Given the description of an element on the screen output the (x, y) to click on. 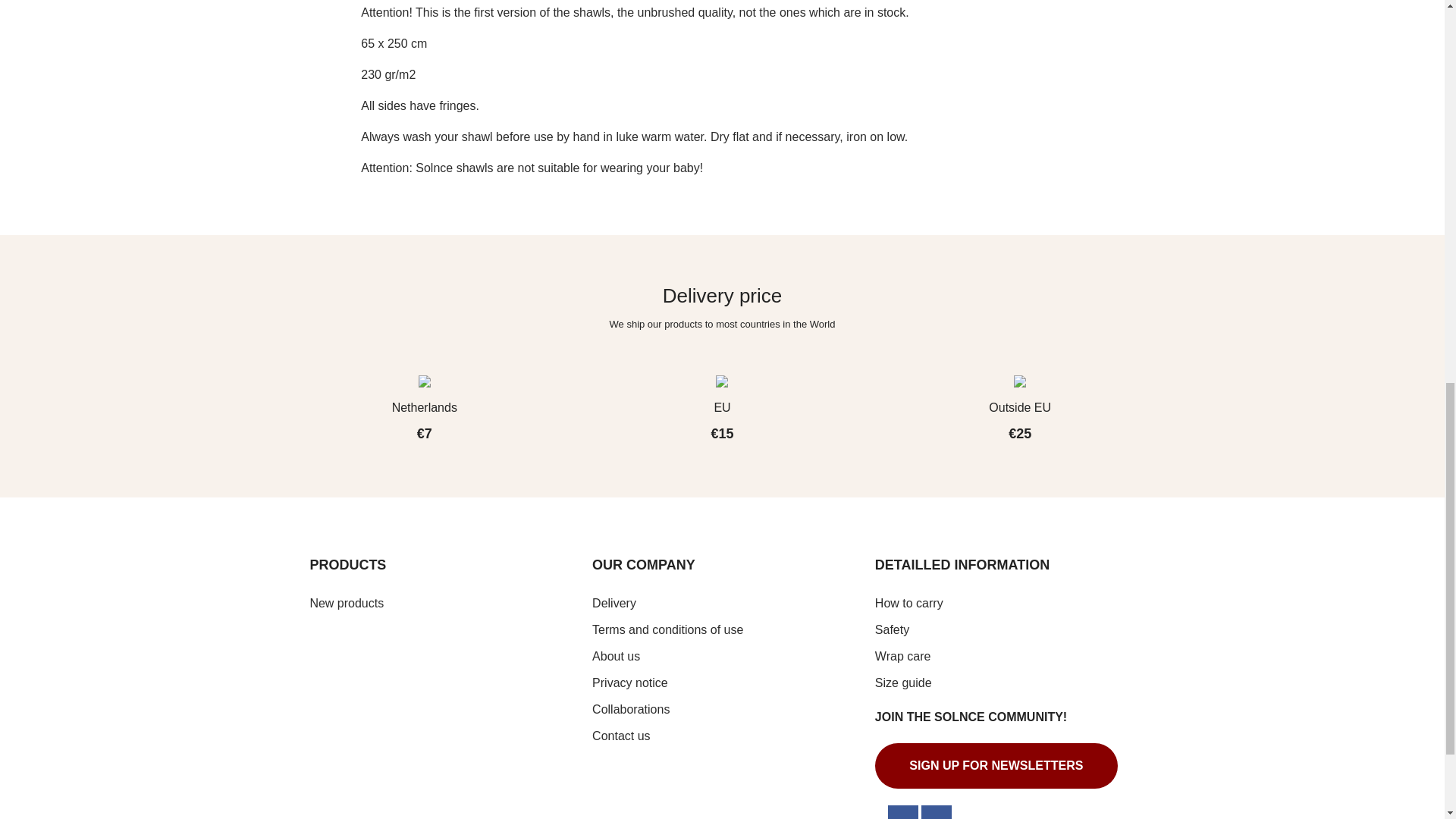
Our terms and conditions of delivery (614, 603)
Collaborations (630, 708)
Learn more about us (616, 656)
New products (346, 603)
How to carry (909, 603)
Terms and conditions of use (667, 629)
Use our form to contact us (620, 735)
Safety (891, 629)
About us (616, 656)
Collaborations (630, 708)
